Given the description of an element on the screen output the (x, y) to click on. 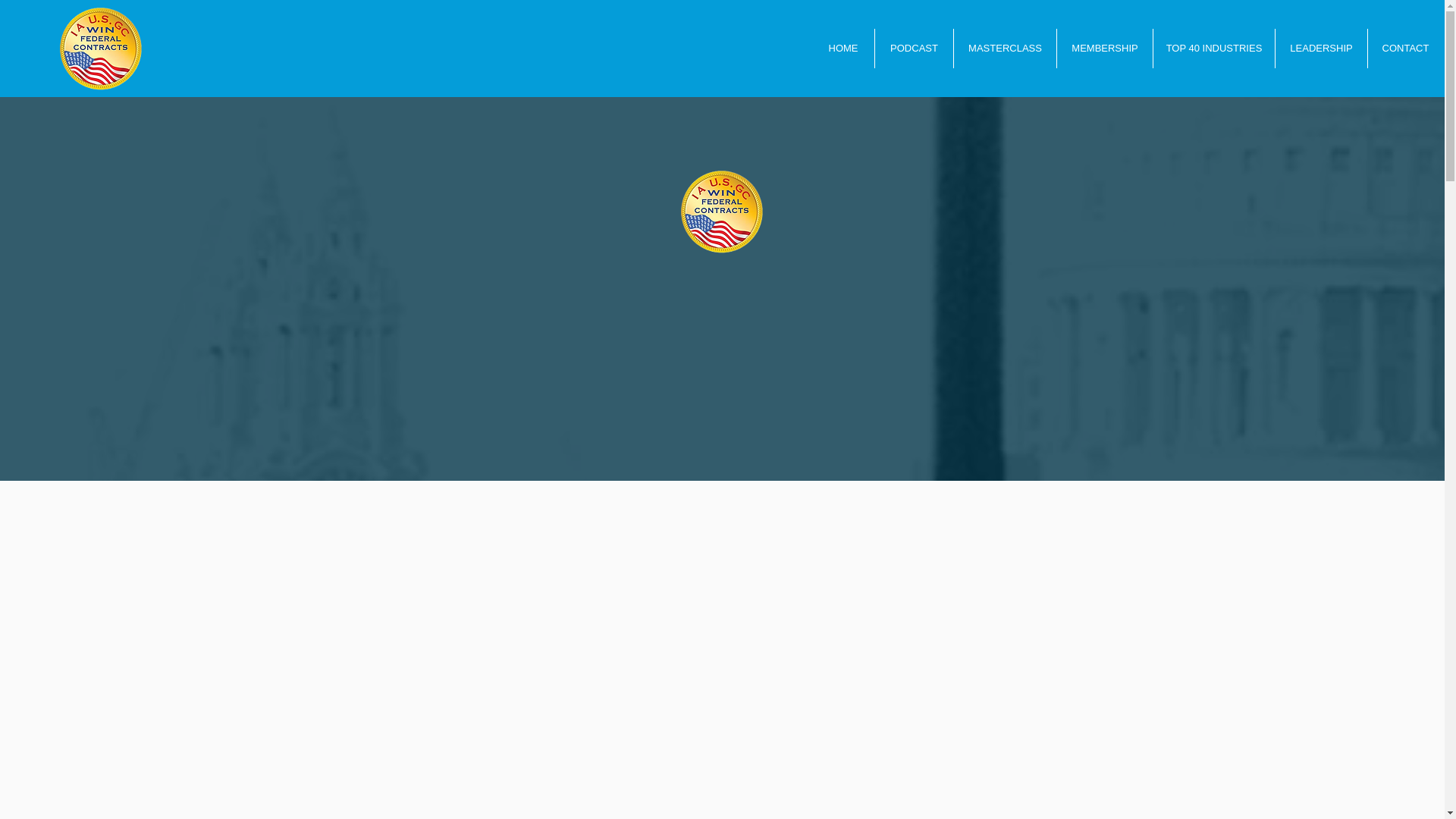
PODCAST (914, 47)
HOME (843, 47)
MASTERCLASS (1005, 47)
MEMBERSHIP (1105, 47)
CONTACT (1405, 47)
TOP 40 INDUSTRIES (1214, 47)
LEADERSHIP (1321, 47)
